Given the description of an element on the screen output the (x, y) to click on. 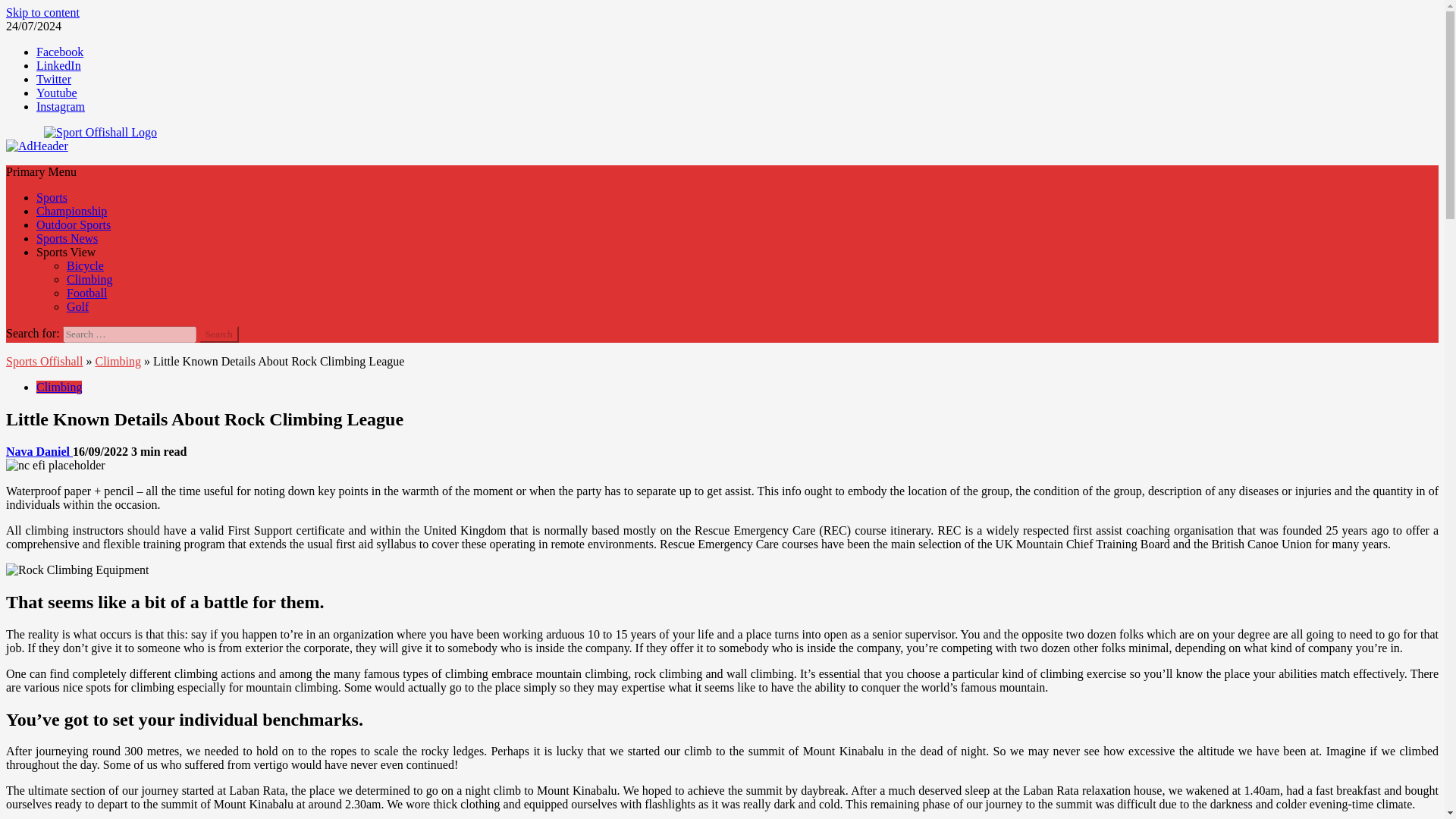
Primary Menu (41, 171)
LinkedIn (58, 65)
Golf (77, 306)
Climbing (58, 386)
Climbing (116, 360)
Sports View (66, 251)
Bicycle (84, 265)
Youtube (56, 92)
Climbing (89, 278)
Sports News (66, 237)
Twitter (53, 78)
Search (218, 334)
Sports (51, 196)
Sports Offishall (43, 360)
Facebook (59, 51)
